Given the description of an element on the screen output the (x, y) to click on. 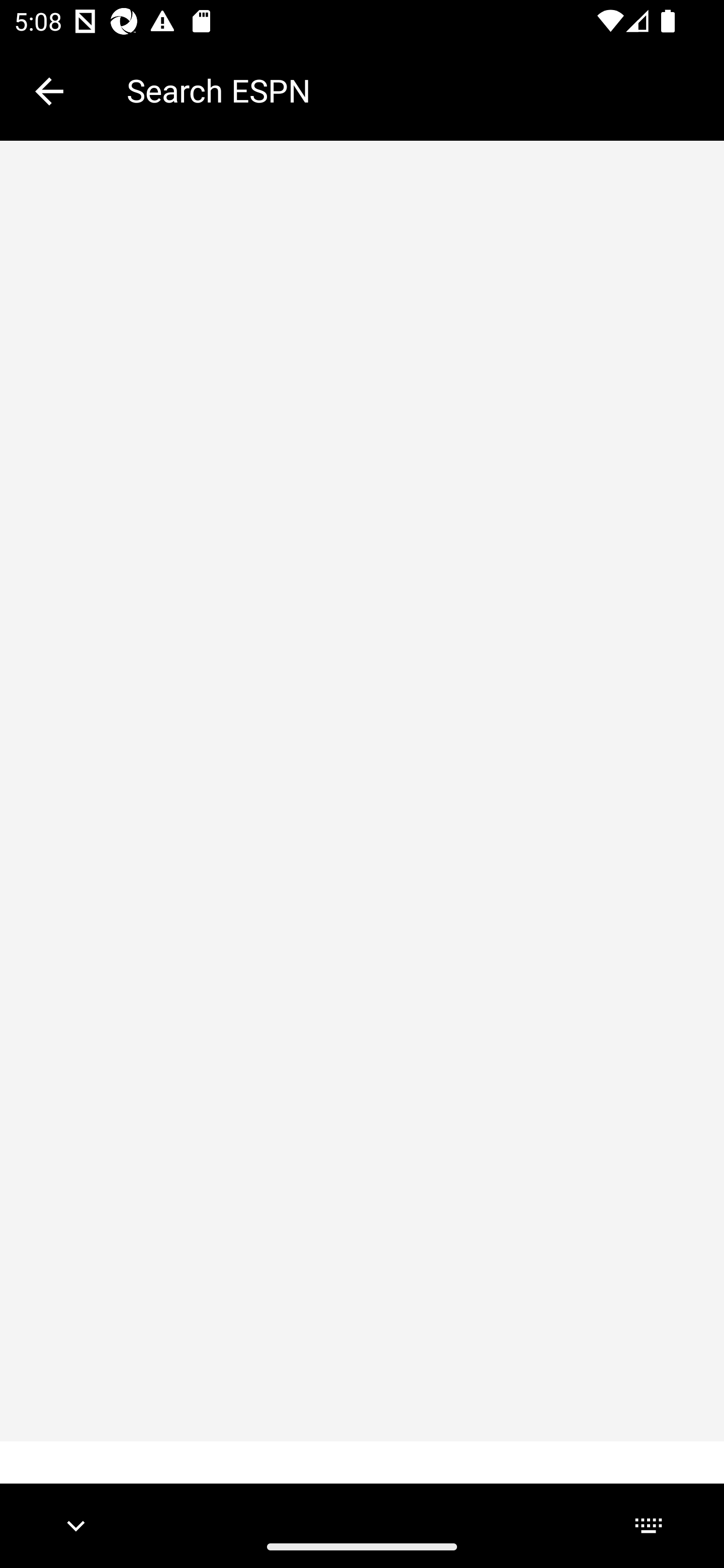
Collapse (49, 91)
Search ESPN (411, 90)
